Given the description of an element on the screen output the (x, y) to click on. 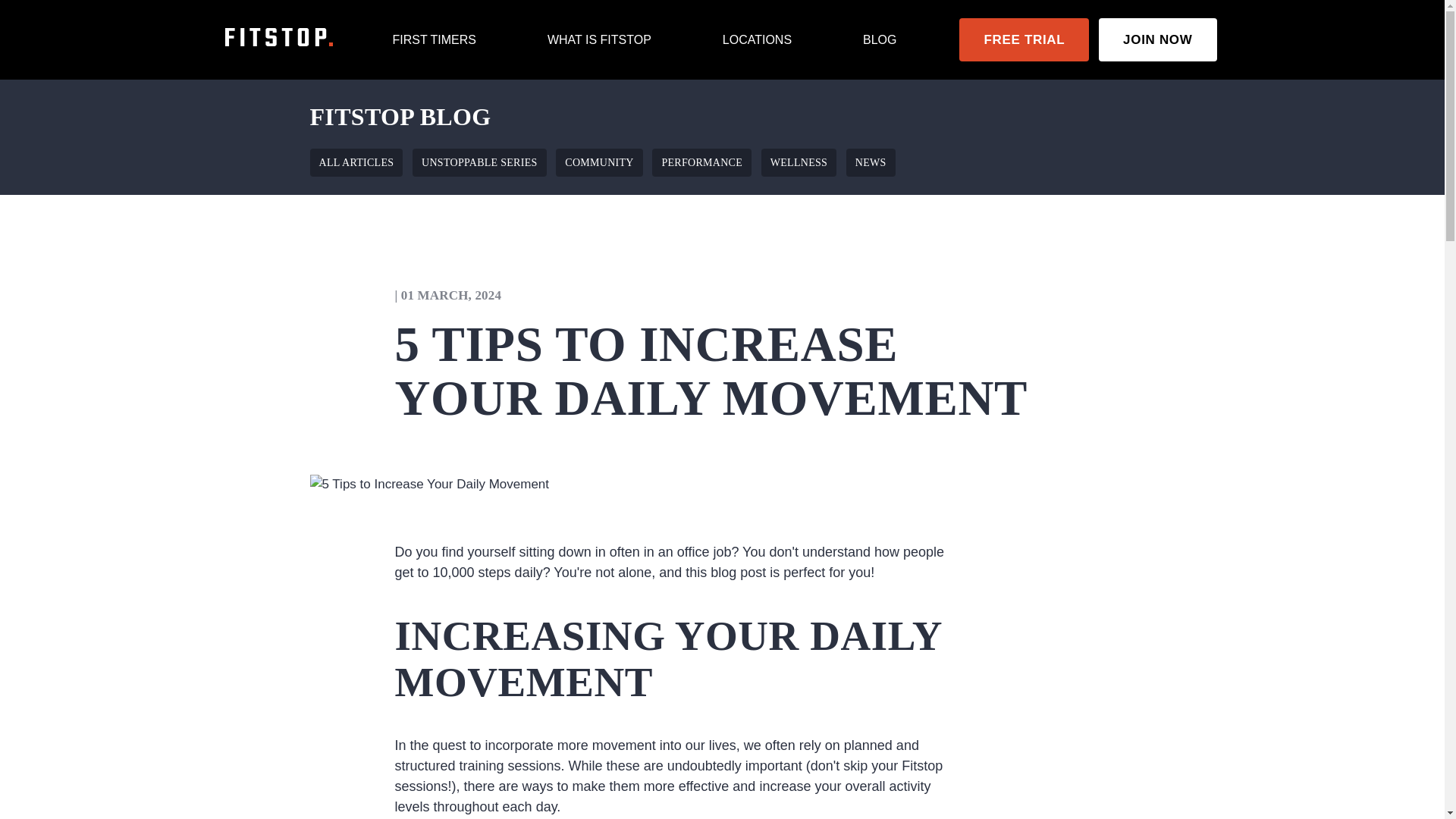
WHAT IS FITSTOP (599, 39)
ALL ARTICLES (355, 162)
LOCATIONS (756, 39)
UNSTOPPABLE SERIES (479, 162)
NEWS (870, 162)
PERFORMANCE (701, 162)
COMMUNITY (599, 162)
WELLNESS (798, 162)
JOIN NOW (1157, 39)
FREE TRIAL (1024, 39)
